Given the description of an element on the screen output the (x, y) to click on. 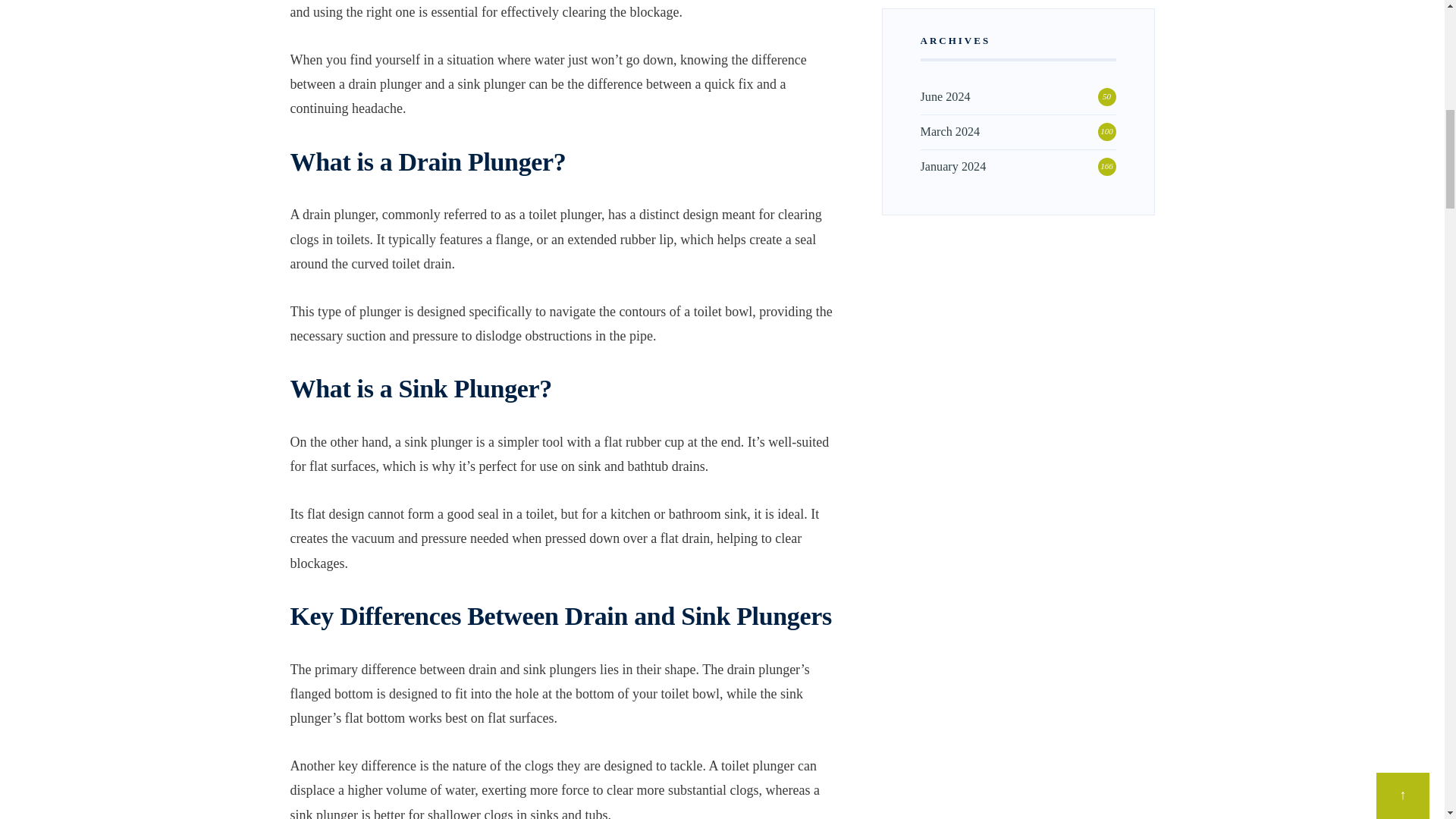
June 2024 (945, 97)
Scroll to top (1402, 1)
January 2024 (953, 166)
March 2024 (949, 131)
